Given the description of an element on the screen output the (x, y) to click on. 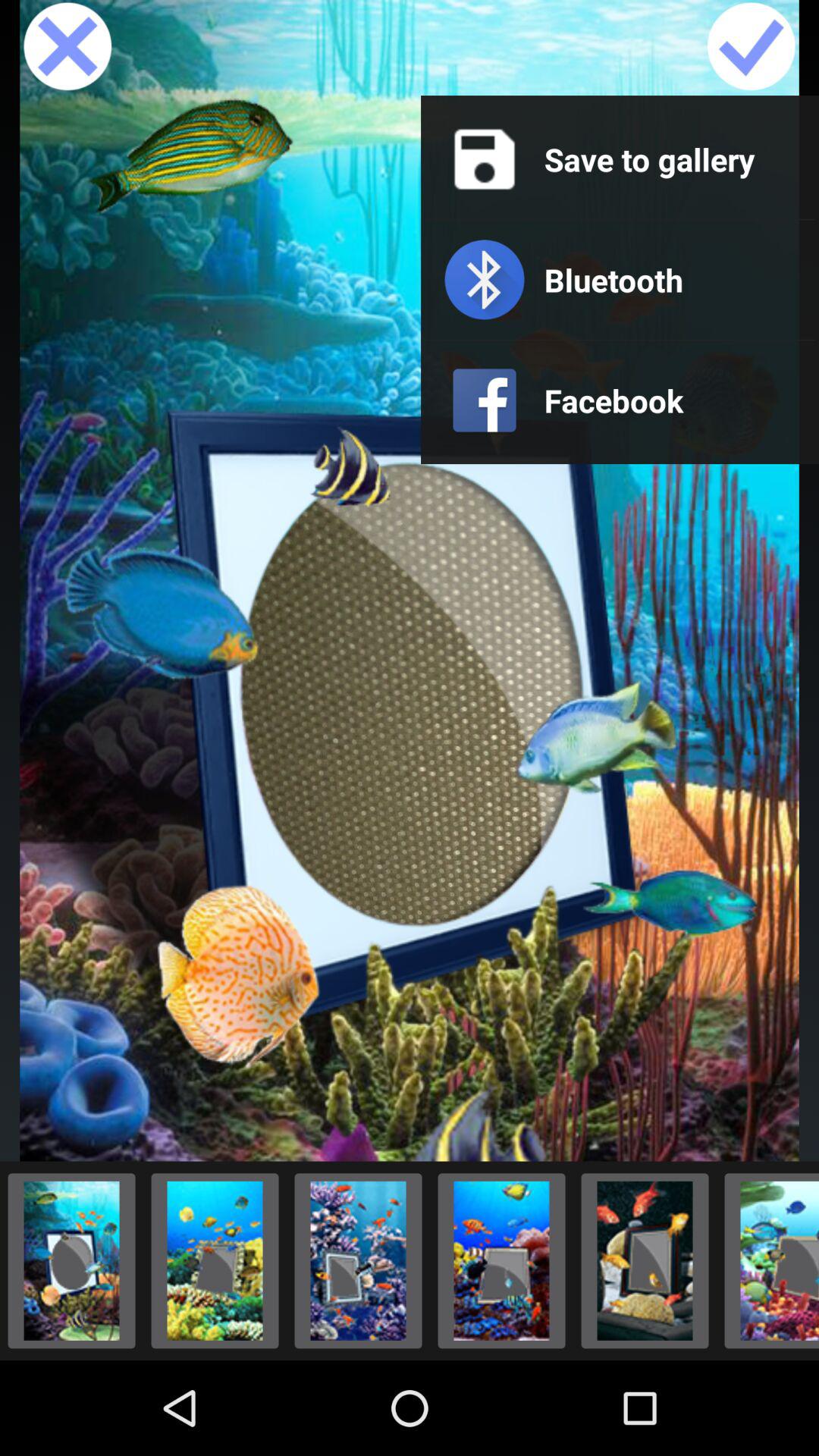
enlarge image (644, 1260)
